Given the description of an element on the screen output the (x, y) to click on. 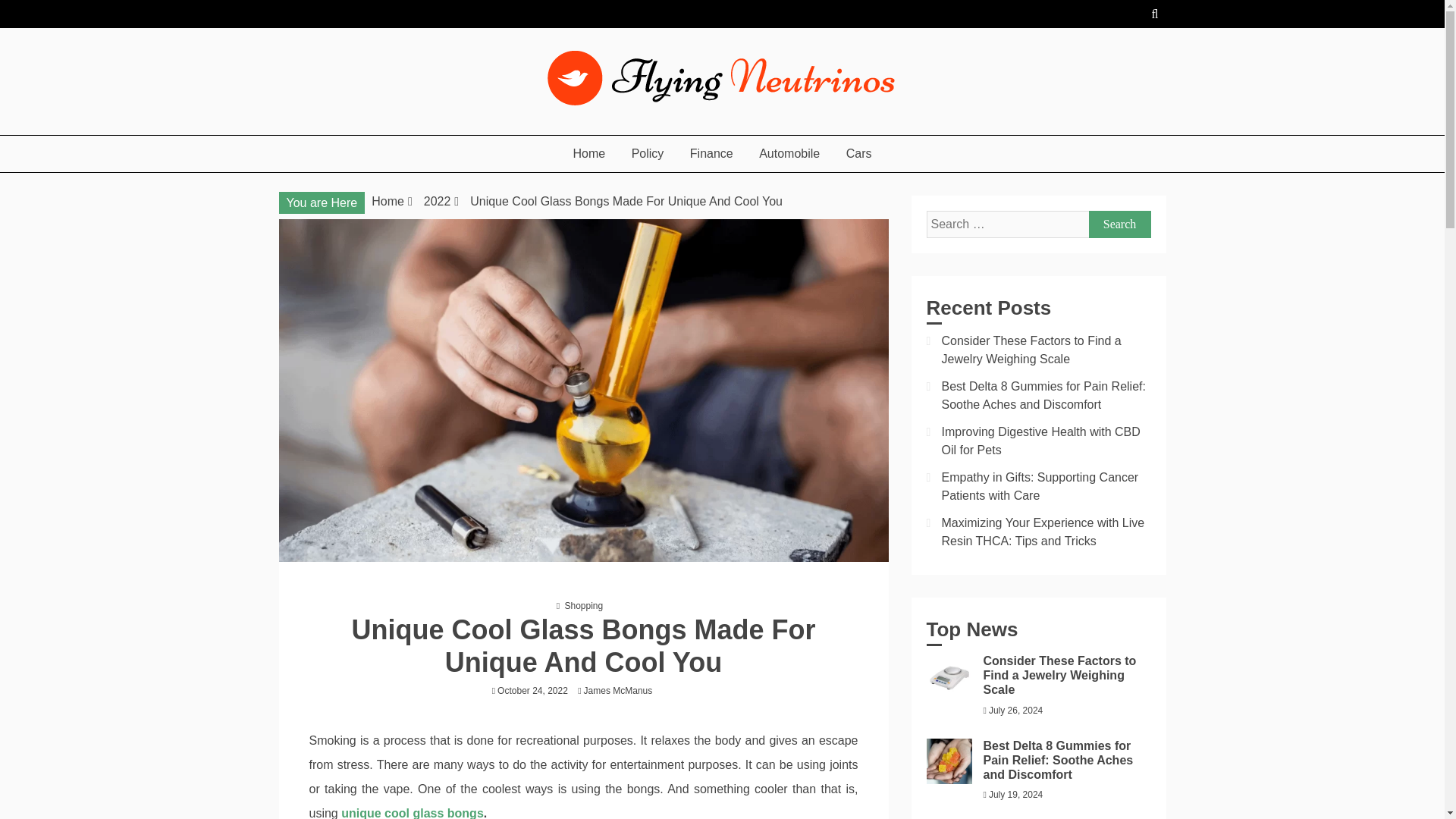
James McManus (622, 690)
Home (589, 153)
October 24, 2022 (532, 690)
Flying Neutrinos (377, 128)
Automobile (789, 153)
Search (1120, 224)
Shopping (583, 605)
Search (1120, 224)
Home (387, 201)
unique cool glass bongs (411, 812)
Consider These Factors to Find a Jewelry Weighing Scale (1031, 349)
Finance (711, 153)
Policy (647, 153)
